Given the description of an element on the screen output the (x, y) to click on. 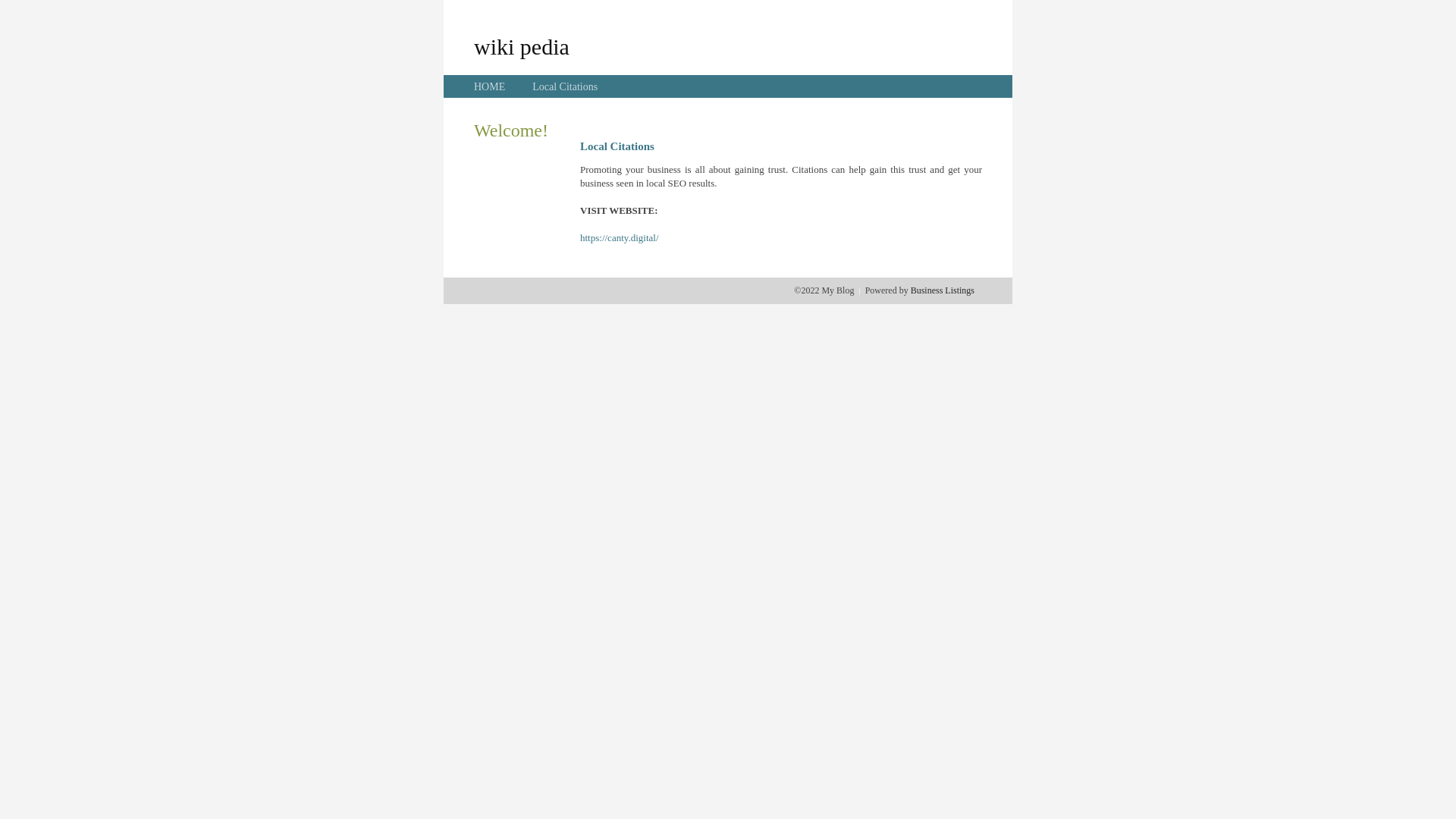
wiki pedia Element type: text (521, 46)
HOME Element type: text (489, 86)
Business Listings Element type: text (942, 290)
https://canty.digital/ Element type: text (619, 237)
Local Citations Element type: text (564, 86)
